Given the description of an element on the screen output the (x, y) to click on. 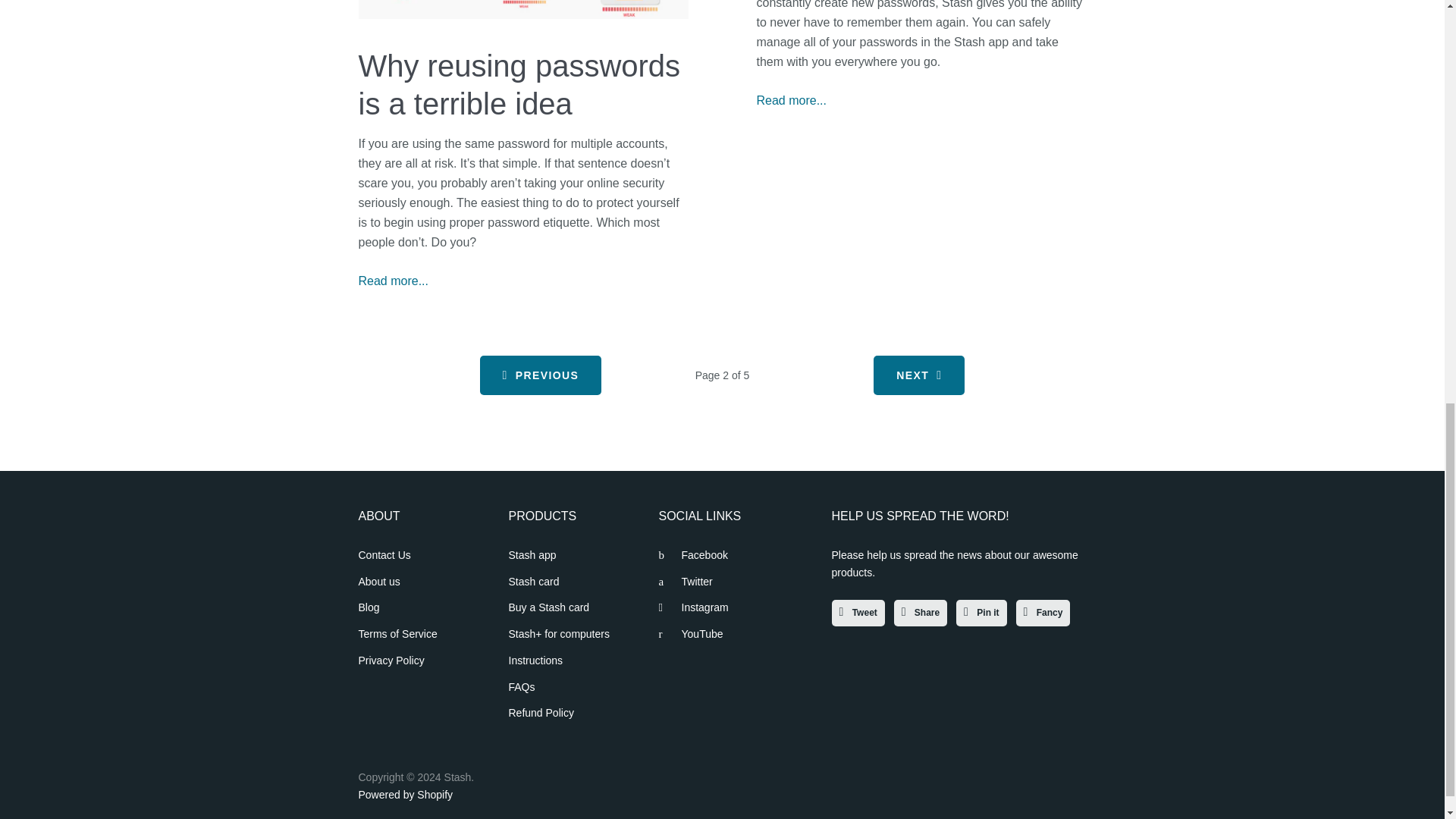
Privacy Policy (390, 660)
PREVIOUS (540, 374)
NEXT (918, 374)
Contact Us (384, 554)
Terms of Service (397, 633)
Blog (368, 607)
Why reusing passwords is a terrible idea (518, 84)
Read more... (792, 100)
Read more... (393, 280)
About us (378, 581)
